Given the description of an element on the screen output the (x, y) to click on. 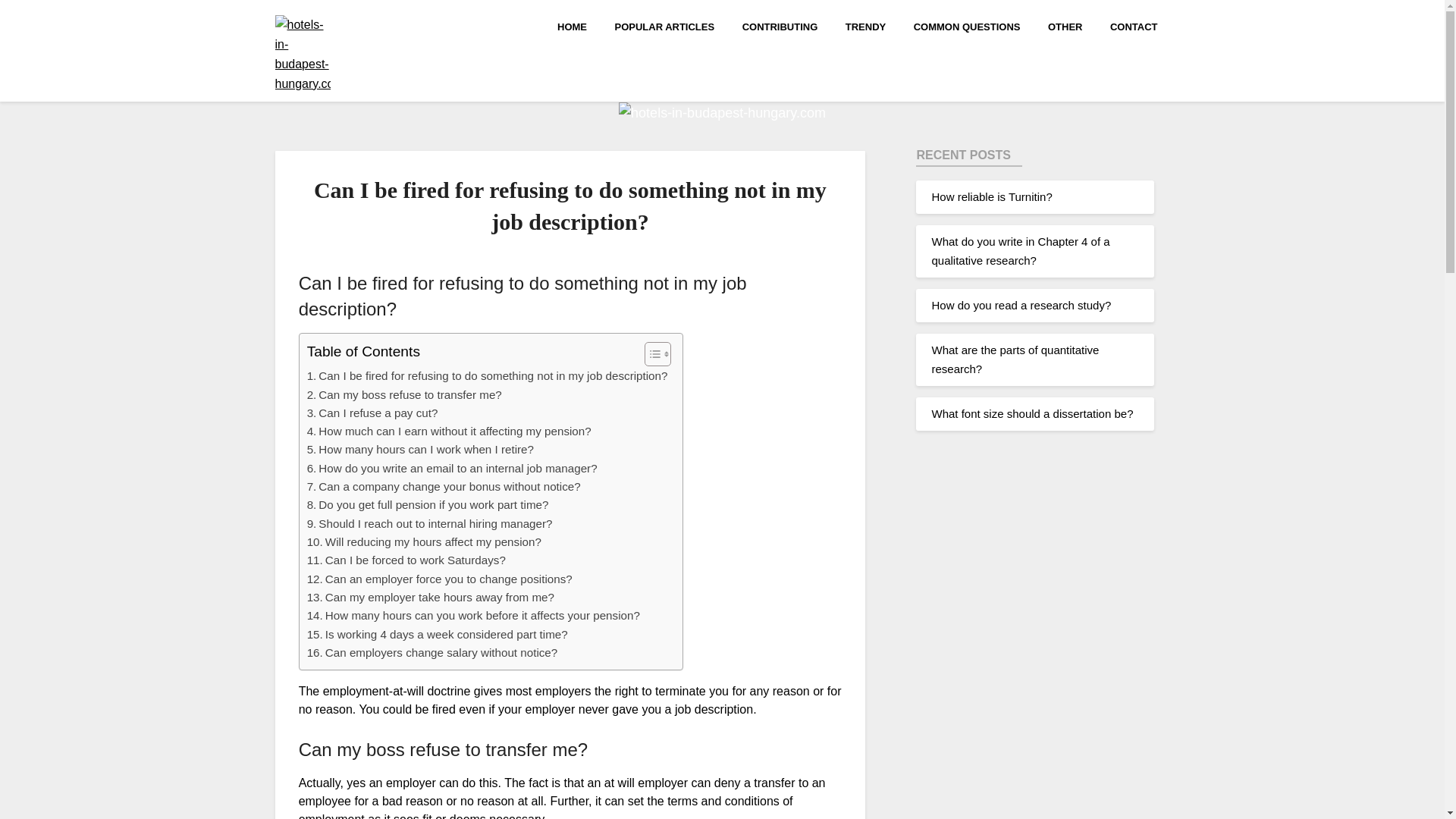
OTHER (1064, 26)
How reliable is Turnitin? (991, 196)
Will reducing my hours affect my pension? (424, 542)
Can my employer take hours away from me? (430, 597)
Can employers change salary without notice? (432, 652)
What do you write in Chapter 4 of a qualitative research? (1020, 250)
Can I refuse a pay cut? (372, 413)
CONTRIBUTING (779, 26)
How do you write an email to an internal job manager? (451, 468)
Can my boss refuse to transfer me? (404, 394)
Should I reach out to internal hiring manager? (430, 524)
Can a company change your bonus without notice? (443, 486)
Can I be forced to work Saturdays? (406, 560)
How do you read a research study? (1020, 305)
